Given the description of an element on the screen output the (x, y) to click on. 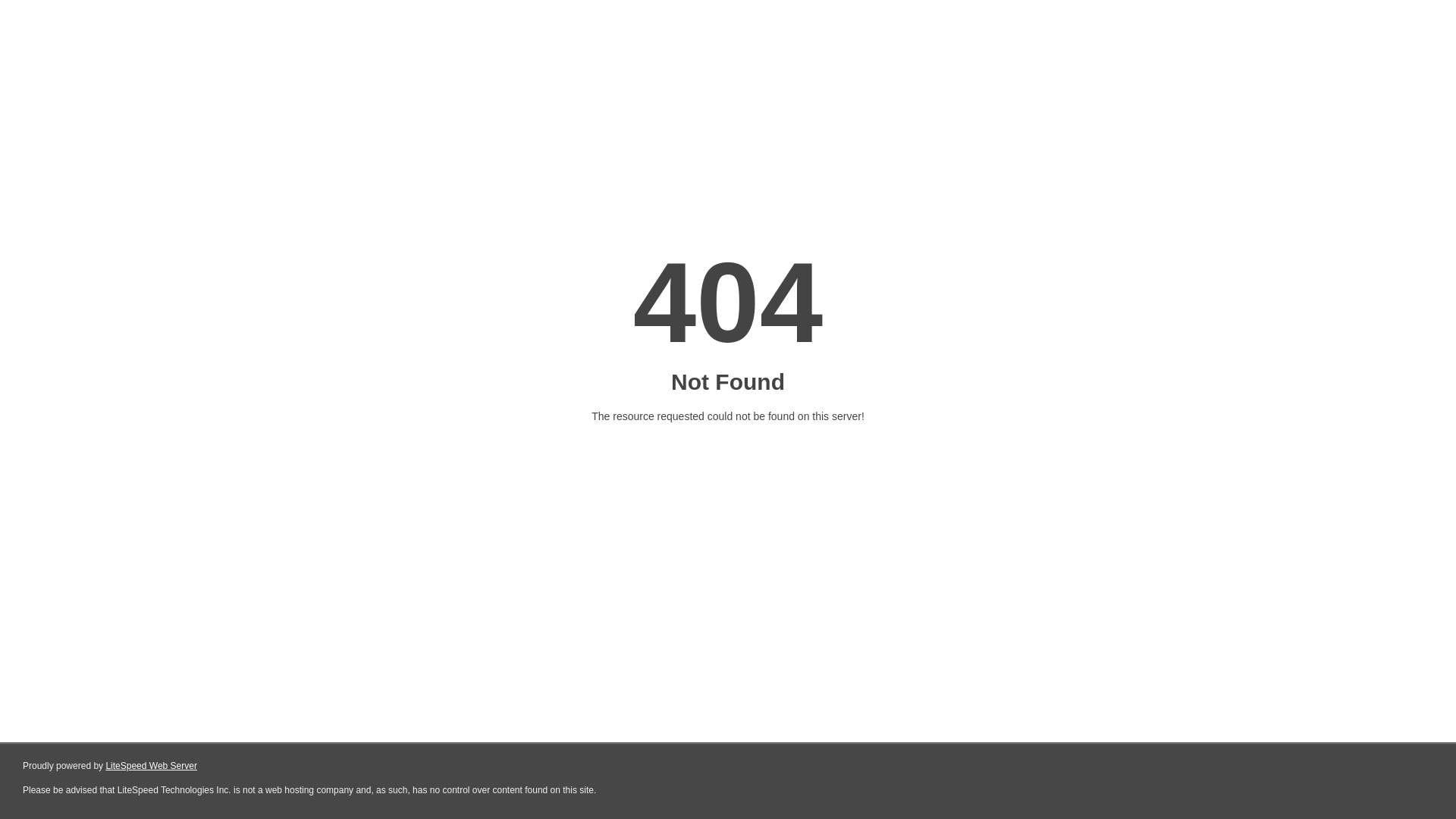
LiteSpeed Web Server Element type: text (151, 765)
